Given the description of an element on the screen output the (x, y) to click on. 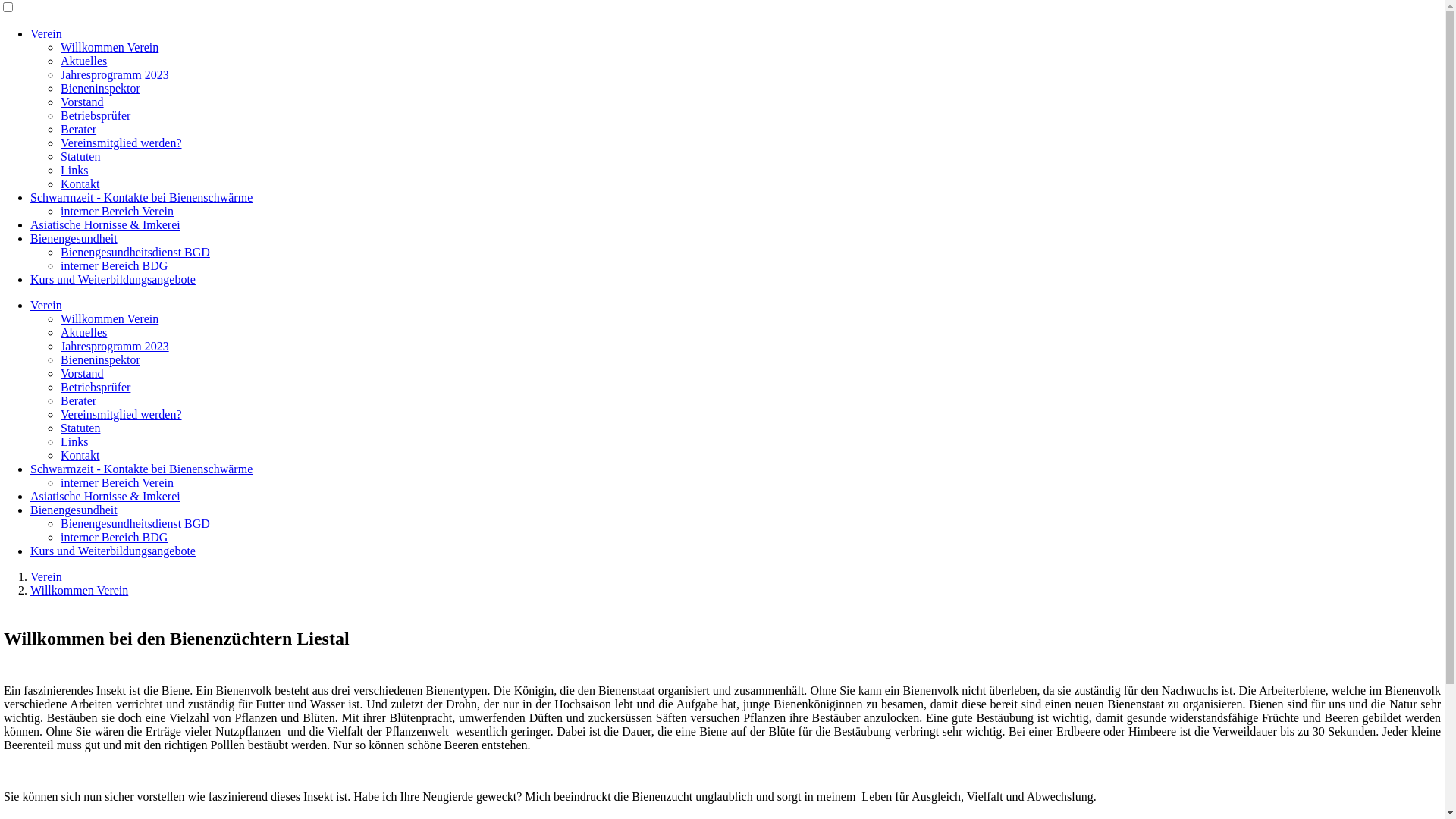
Kurs und Weiterbildungsangebote Element type: text (112, 550)
Bieneninspektor Element type: text (100, 359)
Links Element type: text (73, 441)
Vorstand Element type: text (81, 373)
Willkommen Verein Element type: text (109, 46)
Bienengesundheitsdienst BGD Element type: text (135, 251)
Verein Element type: text (46, 576)
Kurs und Weiterbildungsangebote Element type: text (112, 279)
Kontakt Element type: text (80, 183)
Links Element type: text (73, 169)
Jahresprogramm 2023 Element type: text (114, 74)
Willkommen Verein Element type: text (79, 589)
Statuten Element type: text (80, 156)
Bieneninspektor Element type: text (100, 87)
Aktuelles Element type: text (83, 60)
Willkommen Verein Element type: text (109, 318)
interner Bereich BDG Element type: text (113, 265)
Jahresprogramm 2023 Element type: text (114, 345)
Vereinsmitglied werden? Element type: text (121, 413)
interner Bereich BDG Element type: text (113, 536)
Vorstand Element type: text (81, 101)
Asiatische Hornisse & Imkerei Element type: text (105, 224)
Vereinsmitglied werden? Element type: text (121, 142)
Berater Element type: text (78, 400)
interner Bereich Verein Element type: text (116, 210)
Aktuelles Element type: text (83, 332)
Verein Element type: text (46, 304)
Berater Element type: text (78, 128)
Bienengesundheit Element type: text (73, 238)
Asiatische Hornisse & Imkerei Element type: text (105, 495)
interner Bereich Verein Element type: text (116, 482)
Verein Element type: text (46, 33)
Bienengesundheitsdienst BGD Element type: text (135, 523)
Kontakt Element type: text (80, 454)
Bienengesundheit Element type: text (73, 509)
Statuten Element type: text (80, 427)
